Given the description of an element on the screen output the (x, y) to click on. 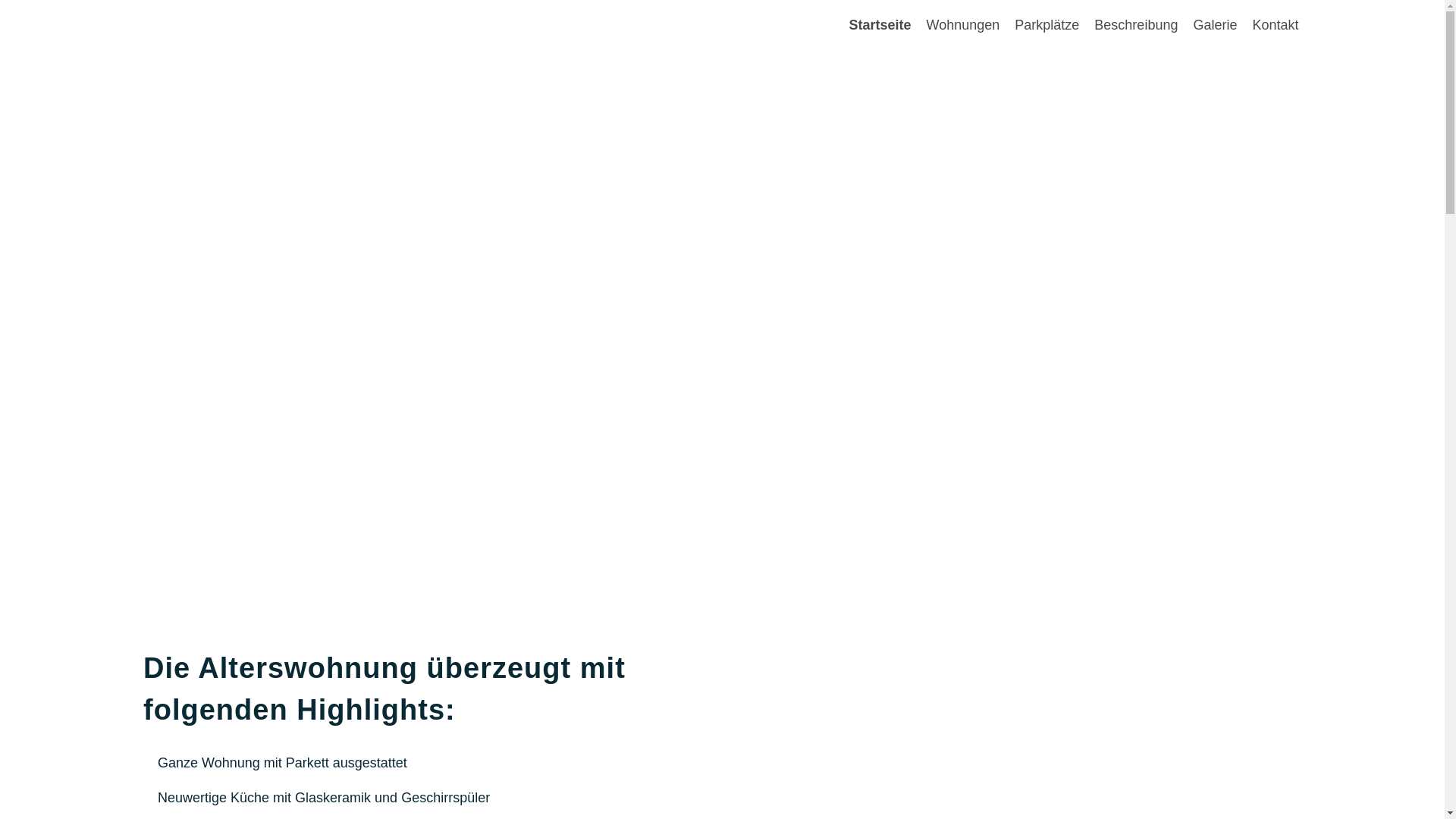
Startseite Element type: text (880, 24)
Next Element type: text (1335, 283)
Wohnungen Element type: text (963, 24)
Galerie Element type: text (1214, 24)
Previous Element type: text (108, 283)
Kontakt Element type: text (1274, 24)
Beschreibung Element type: text (1135, 24)
